Given the description of an element on the screen output the (x, y) to click on. 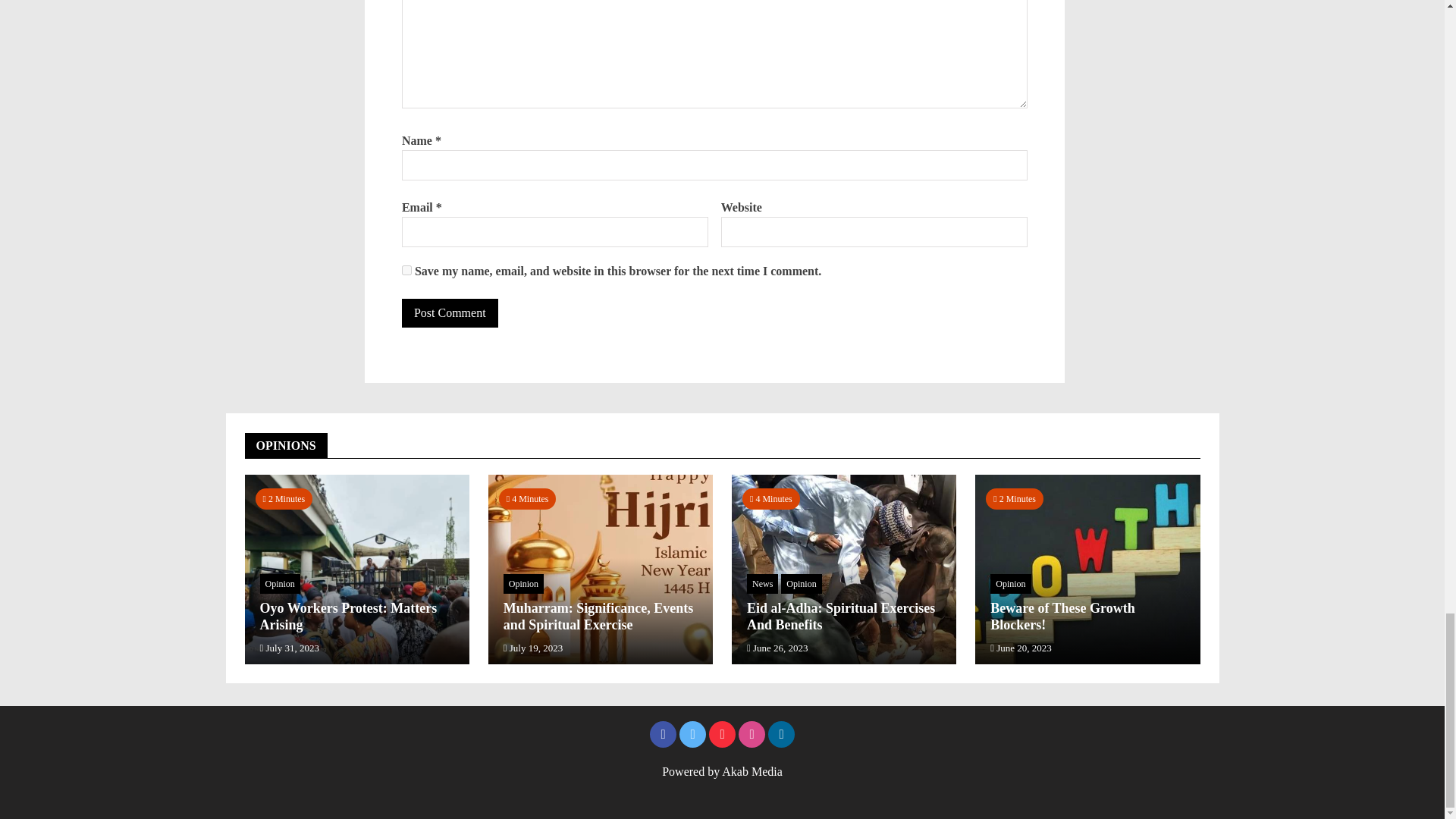
Estimated Reading Time of Article (527, 498)
Post Comment (449, 312)
yes (406, 270)
Estimated Reading Time of Article (1014, 498)
Estimated Reading Time of Article (770, 498)
Estimated Reading Time of Article (283, 498)
